Given the description of an element on the screen output the (x, y) to click on. 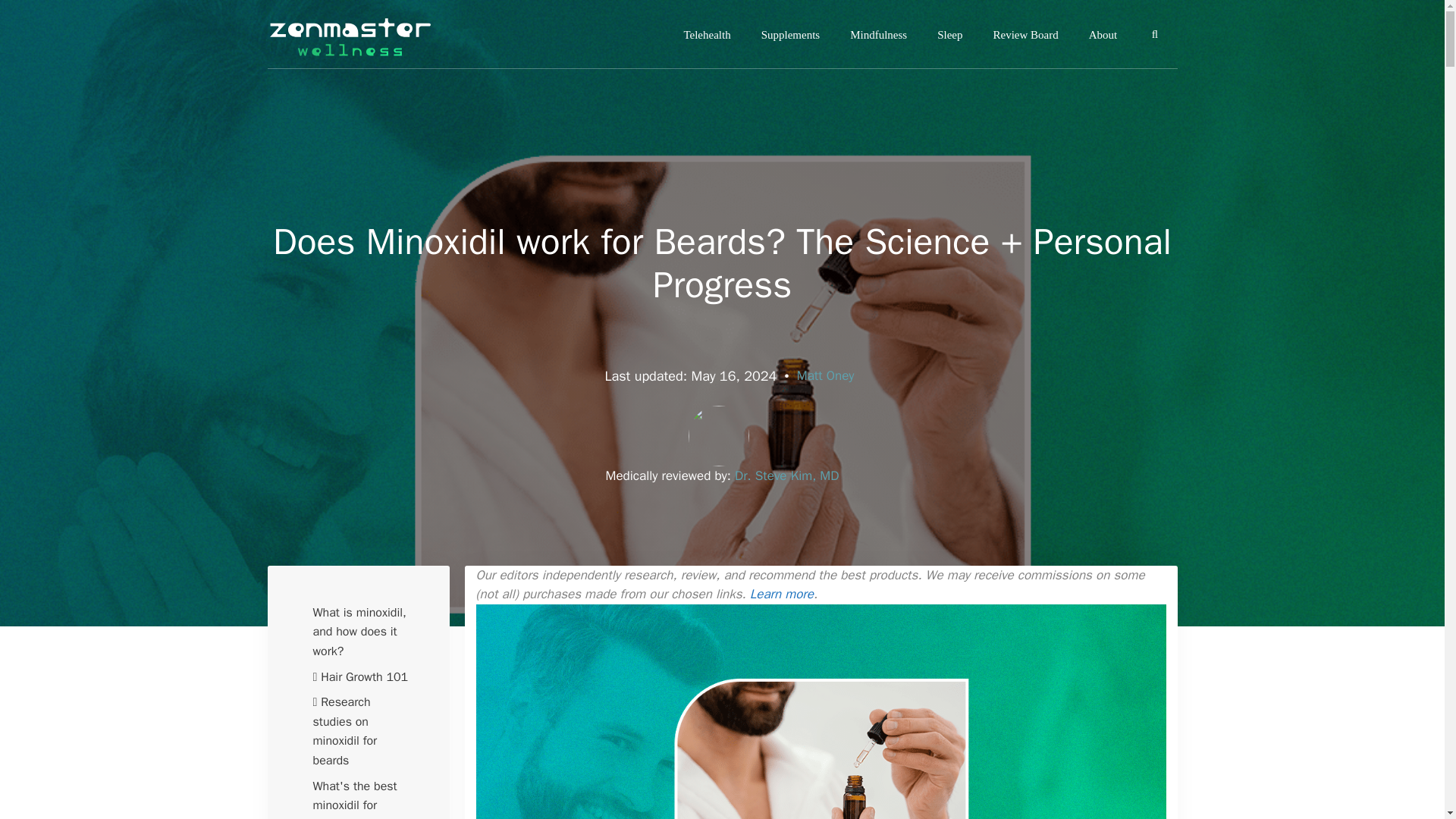
Learn more (781, 593)
Sleep (948, 35)
View all posts by Matt Oney (825, 375)
Review Board (1024, 35)
Mindfulness (877, 35)
Matt Oney (825, 375)
Zenmaster (365, 33)
Supplements (790, 35)
Telehealth (706, 35)
Zenmaster (349, 33)
